Given the description of an element on the screen output the (x, y) to click on. 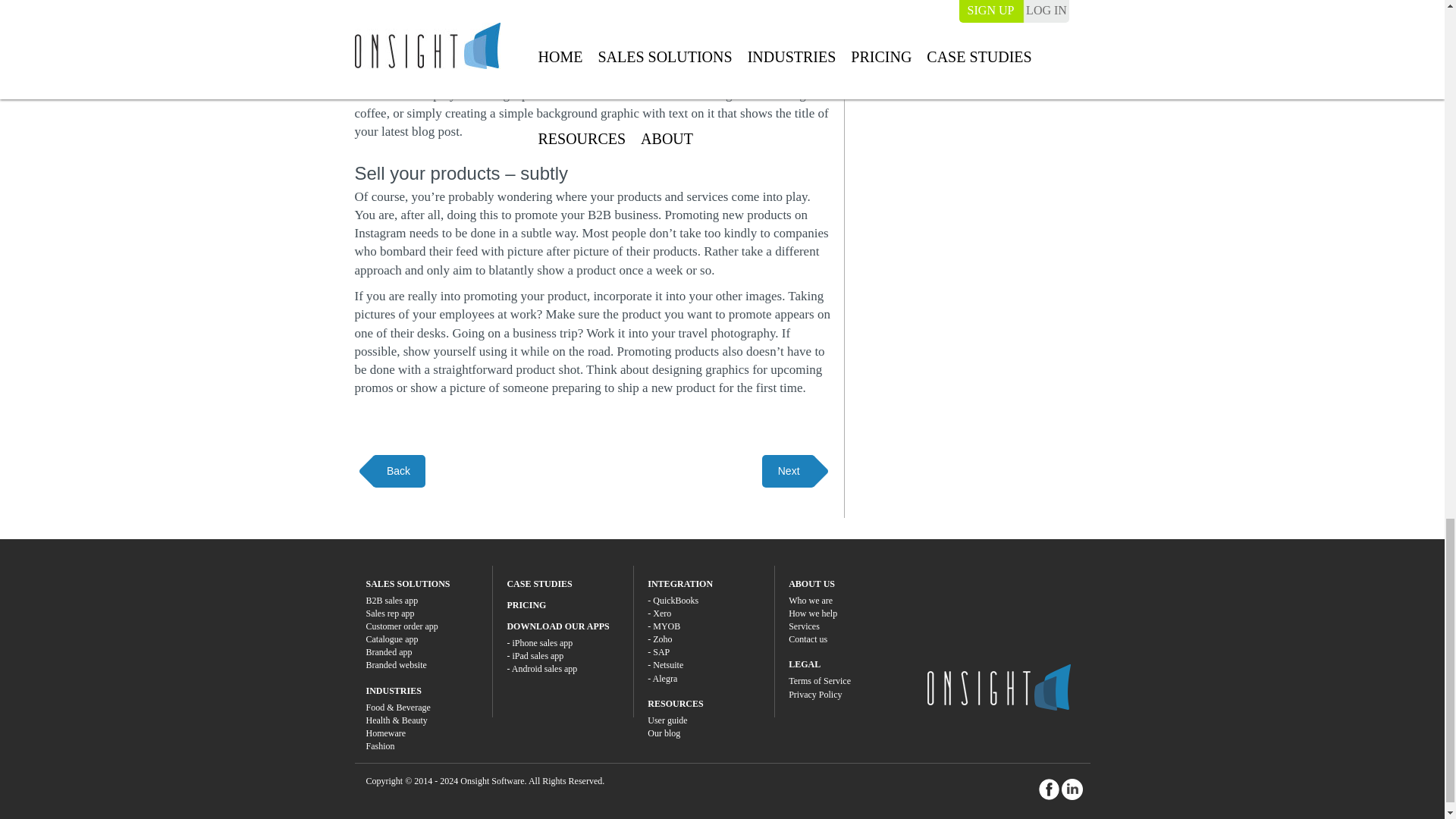
Facebook (1049, 789)
Onsight (998, 687)
LinkedIn (1072, 789)
